Given the description of an element on the screen output the (x, y) to click on. 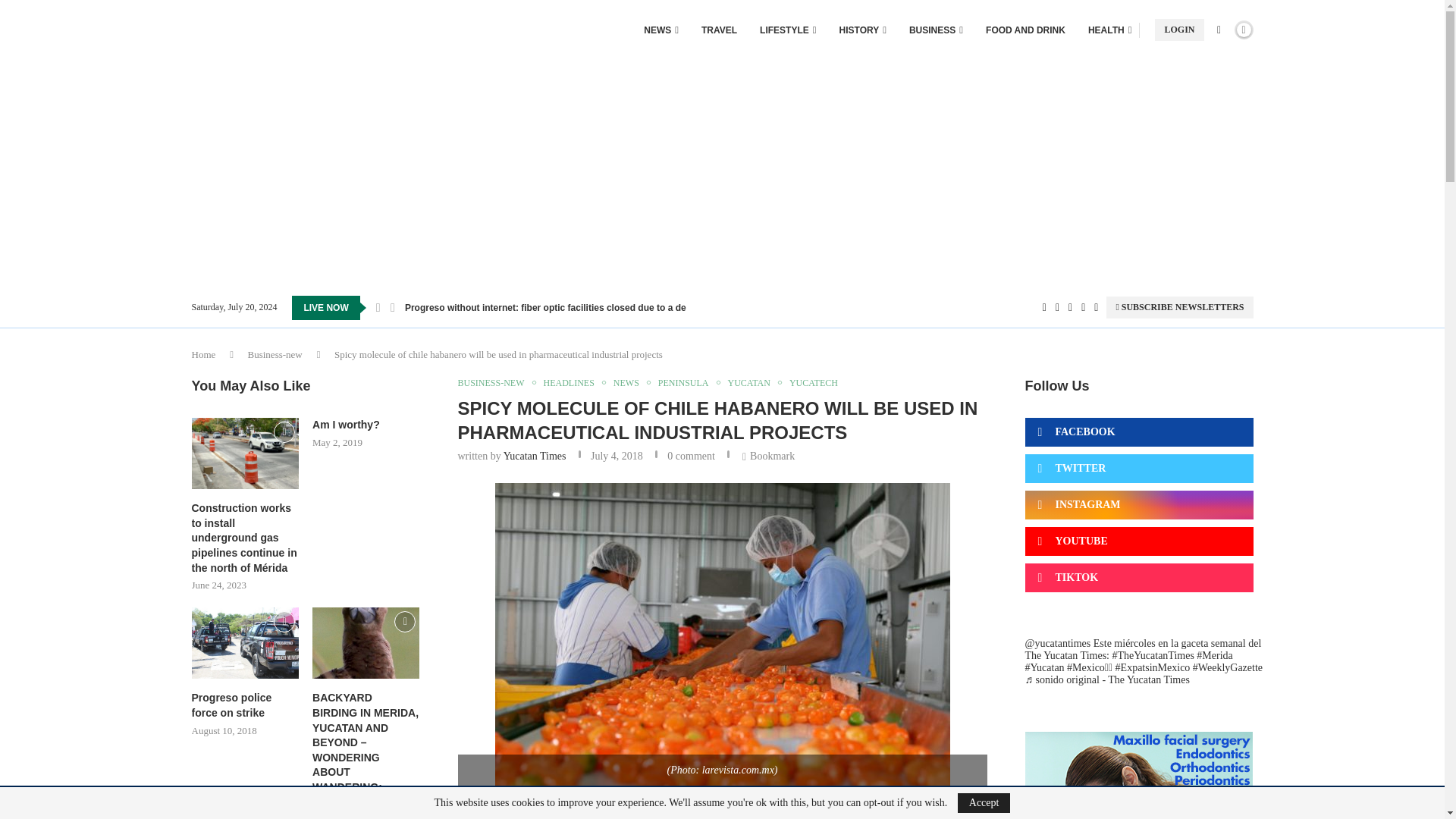
LIFESTYLE (787, 30)
